Given the description of an element on the screen output the (x, y) to click on. 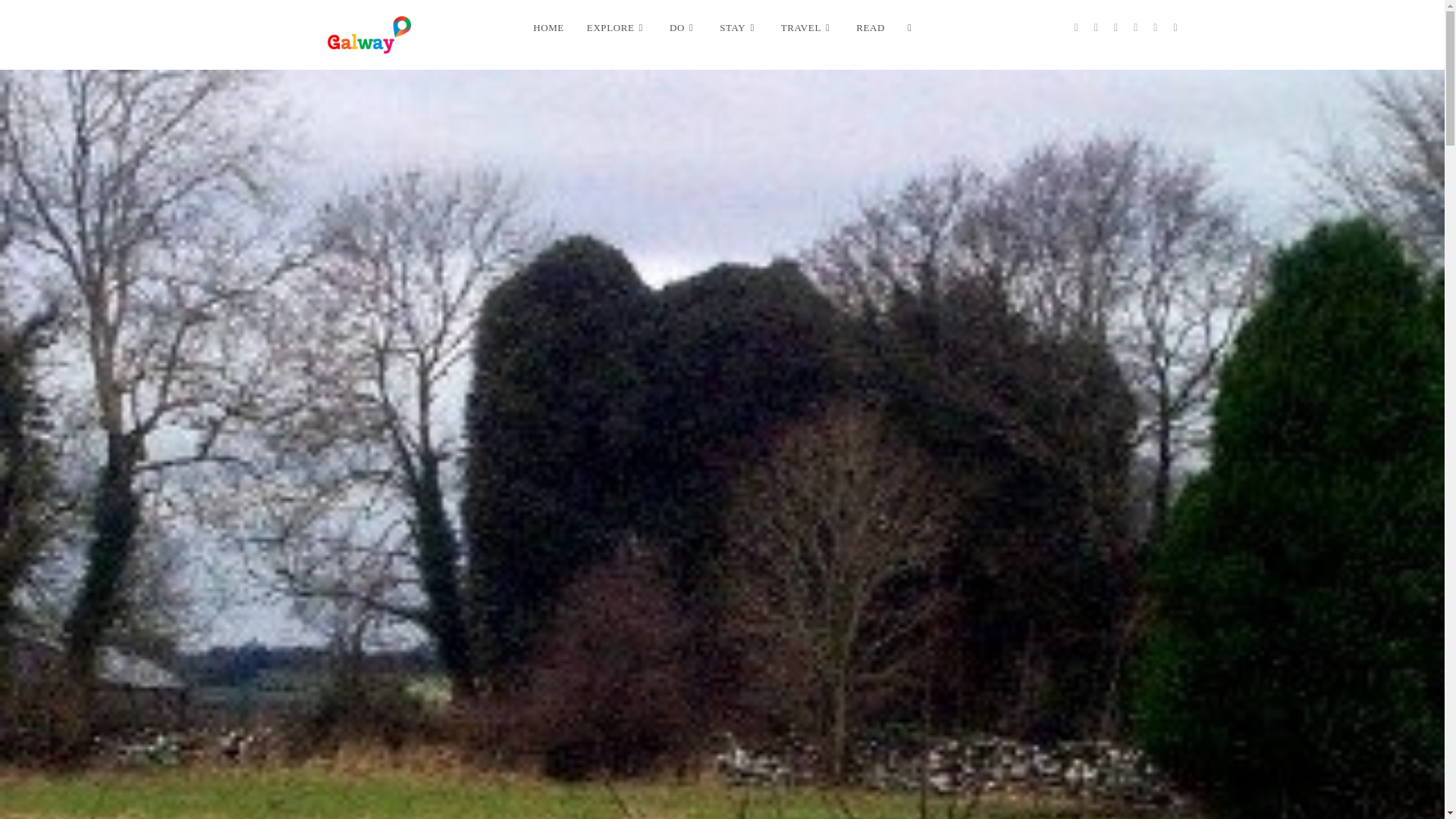
EXPLORE (616, 28)
HOME (548, 28)
DO (682, 28)
